Given the description of an element on the screen output the (x, y) to click on. 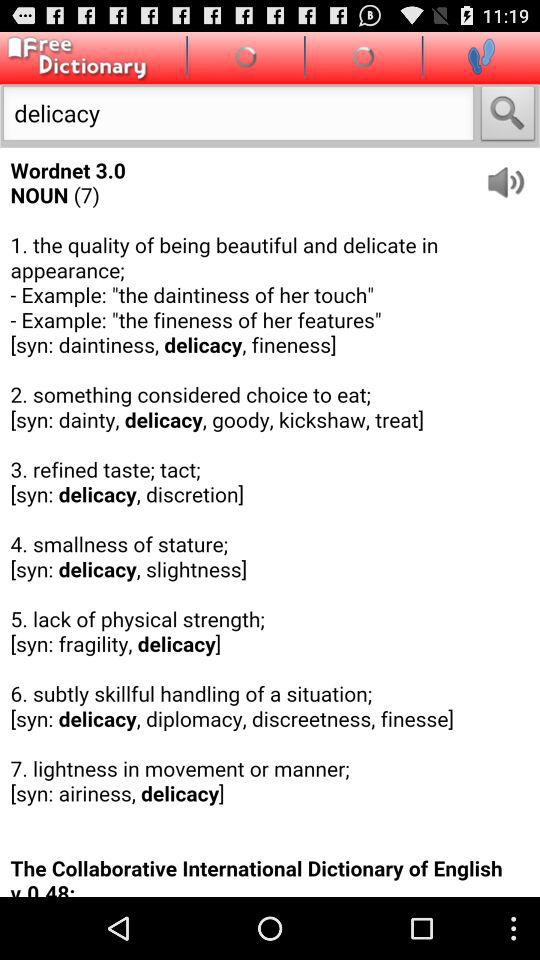
leave page (481, 56)
